Given the description of an element on the screen output the (x, y) to click on. 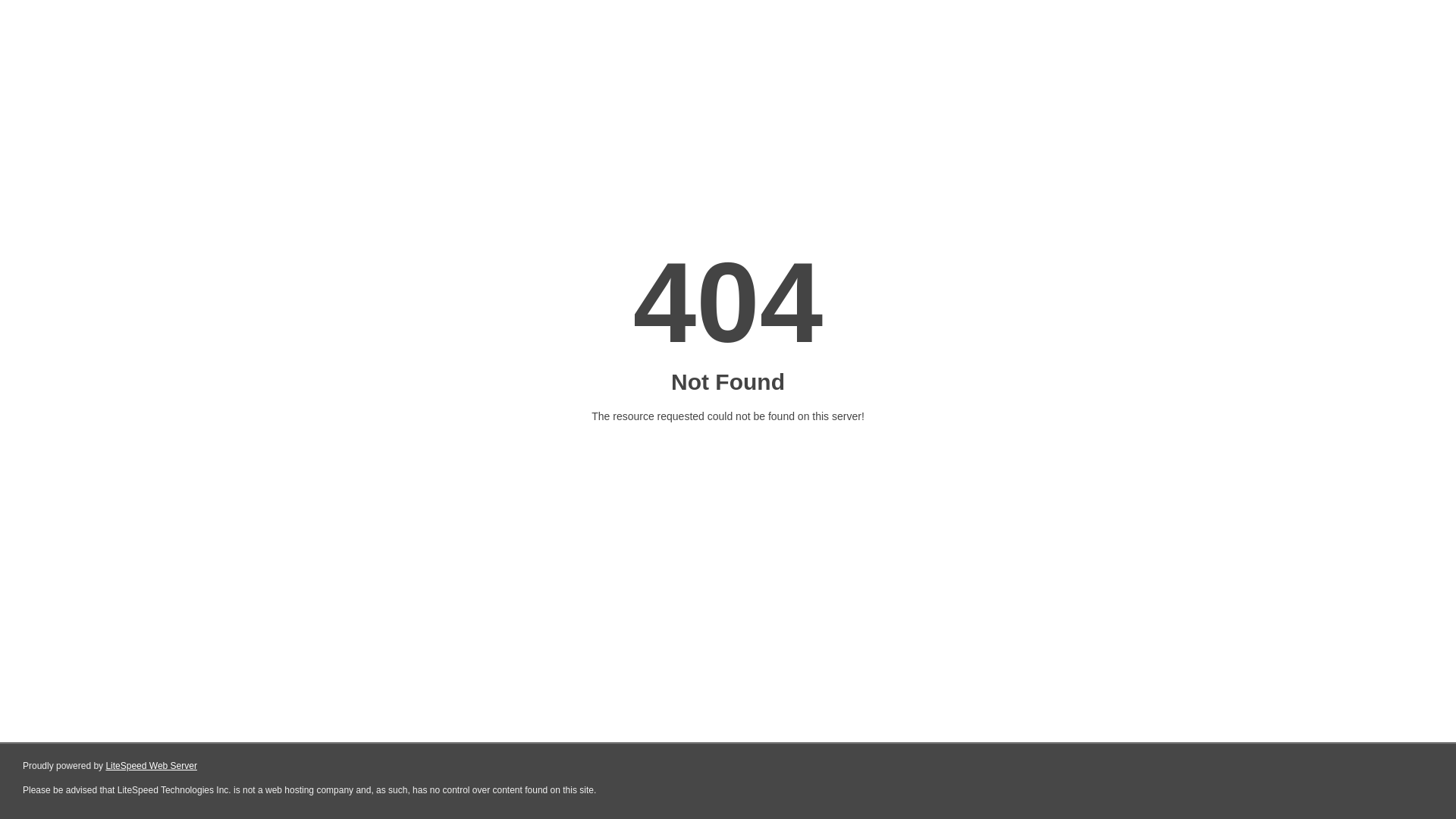
LiteSpeed Web Server Element type: text (151, 765)
